Given the description of an element on the screen output the (x, y) to click on. 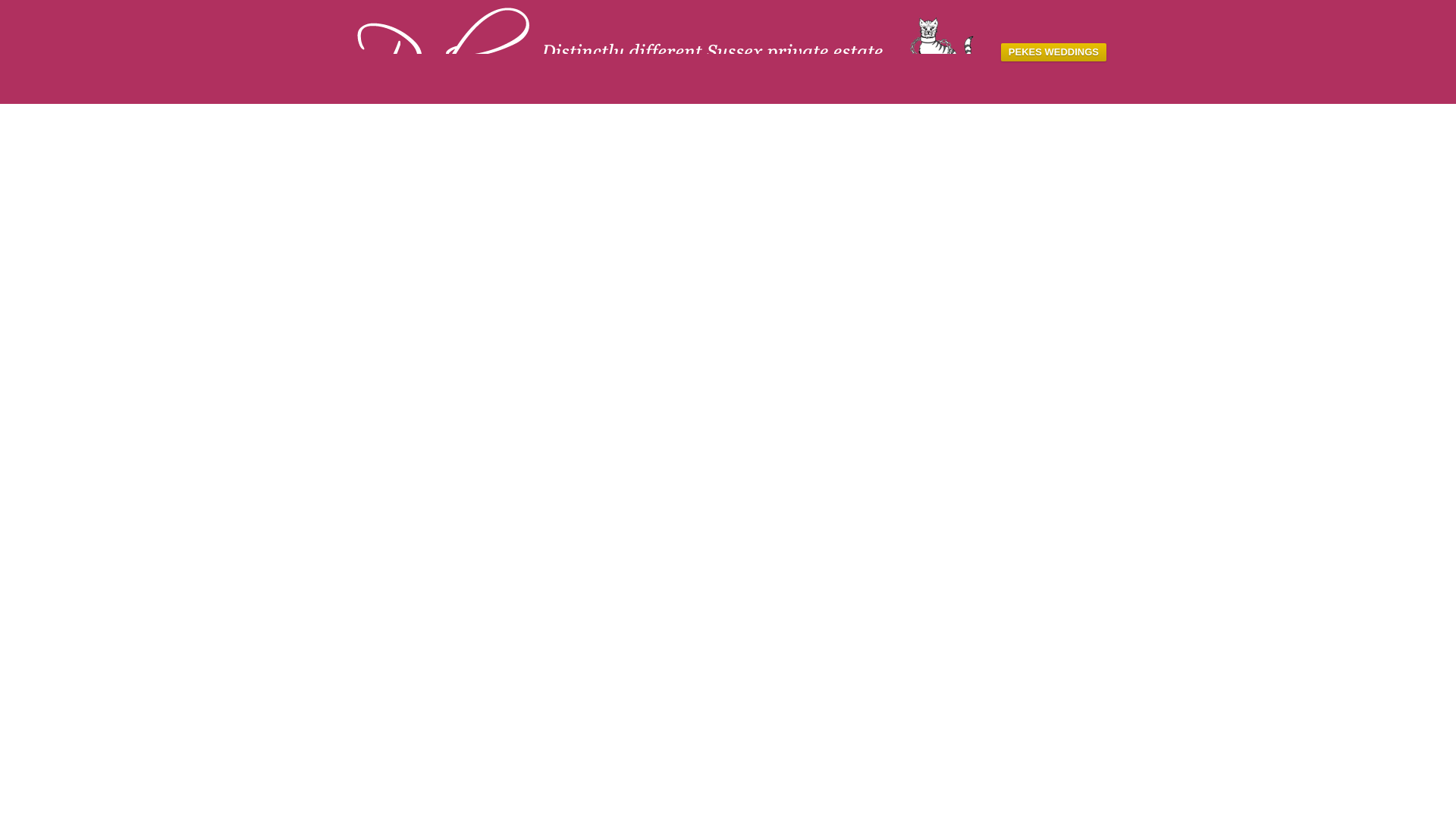
PEKES WEDDINGS (1053, 51)
Home (671, 50)
